Given the description of an element on the screen output the (x, y) to click on. 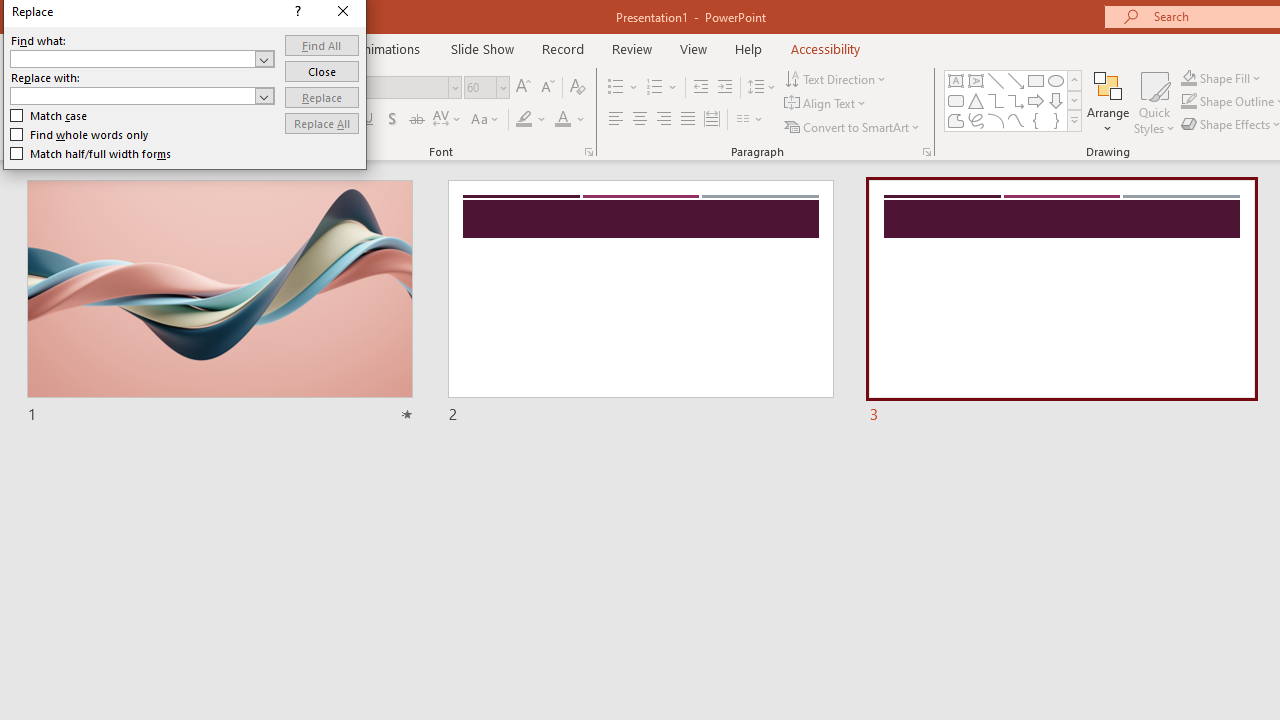
Shapes (1074, 120)
AutomationID: ShapesInsertGallery (1014, 100)
Line Spacing (762, 87)
Shape Fill Orange, Accent 2 (1188, 78)
Text Box (955, 80)
Connector: Elbow Arrow (1016, 100)
Replace All (321, 123)
Align Text (826, 103)
Freeform: Shape (955, 120)
Text Highlight Color (531, 119)
Line (995, 80)
Replace with (142, 96)
